Given the description of an element on the screen output the (x, y) to click on. 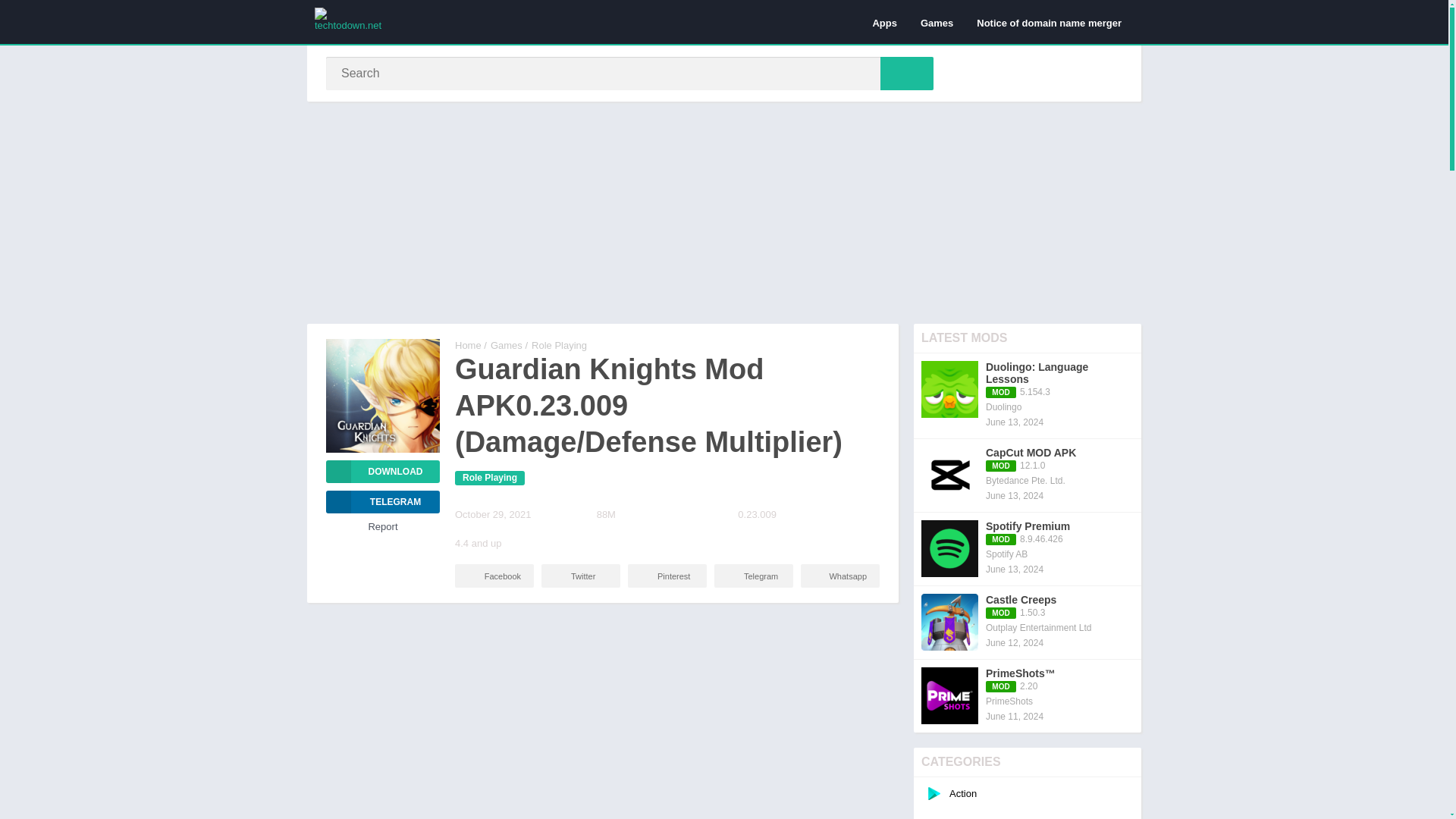
TELEGRAM (382, 501)
DOWNLOAD (1027, 395)
Twitter (382, 471)
Notice of domain name merger (580, 576)
Facebook (1048, 22)
Pinterest (494, 576)
Games (1027, 549)
Home (666, 576)
Role Playing (506, 345)
Telegram (467, 345)
Download (489, 477)
Apps (753, 576)
techtodown.net (382, 471)
